Given the description of an element on the screen output the (x, y) to click on. 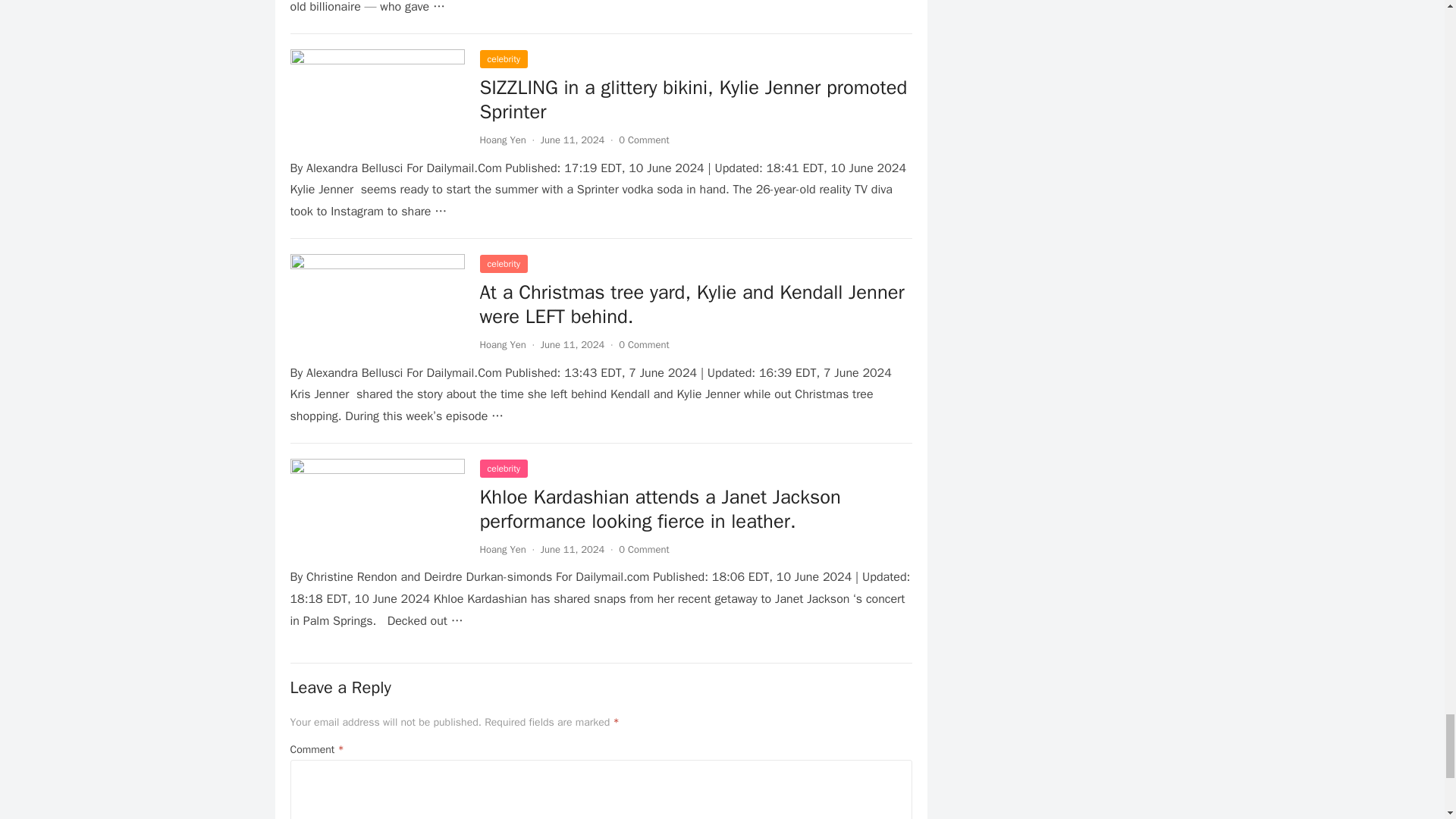
0 Comment (643, 139)
Posts by Hoang Yen (502, 344)
Posts by Hoang Yen (502, 139)
celebrity (503, 58)
Posts by Hoang Yen (502, 549)
Hoang Yen (502, 139)
